Given the description of an element on the screen output the (x, y) to click on. 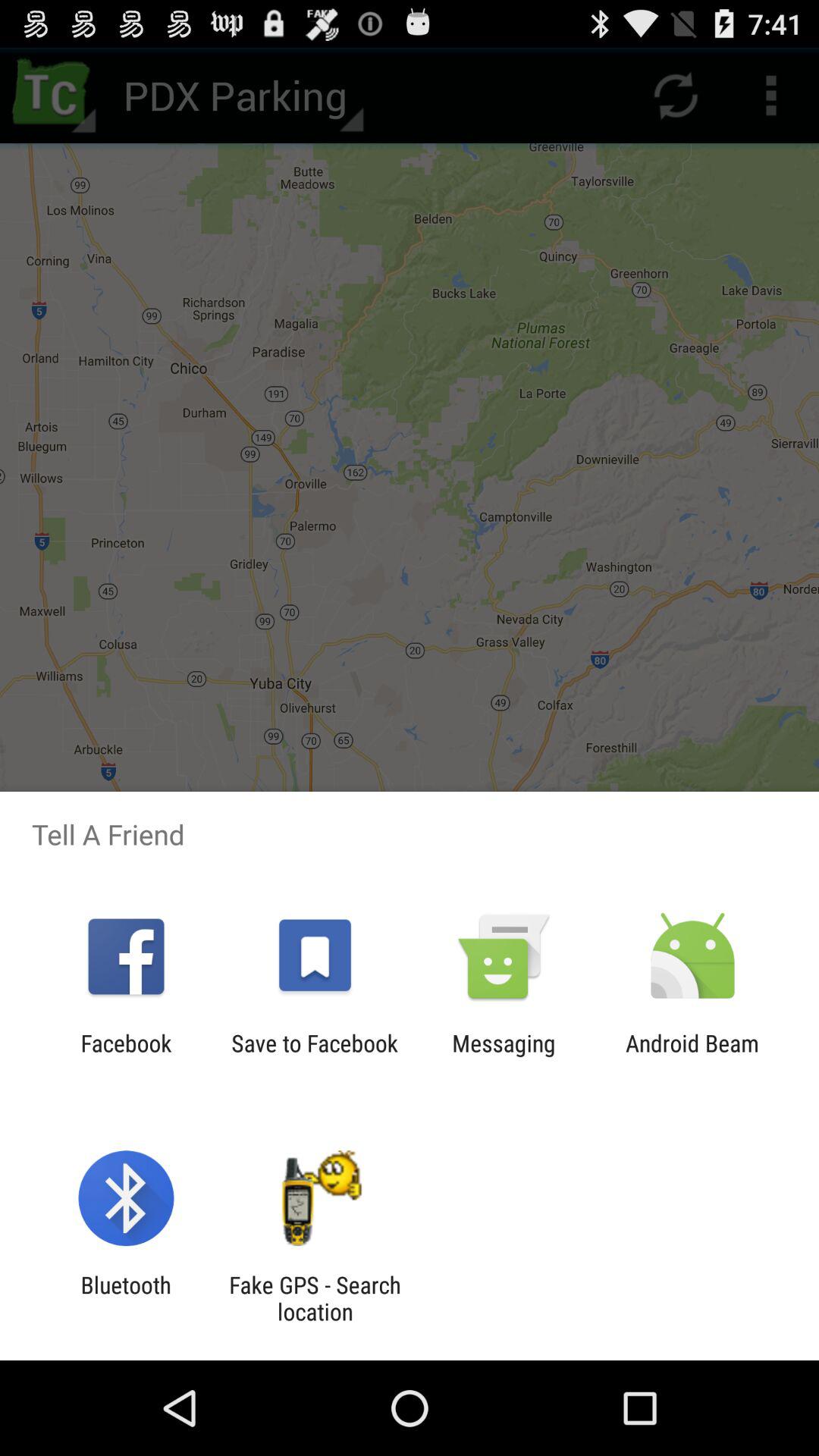
flip to fake gps search app (314, 1298)
